Given the description of an element on the screen output the (x, y) to click on. 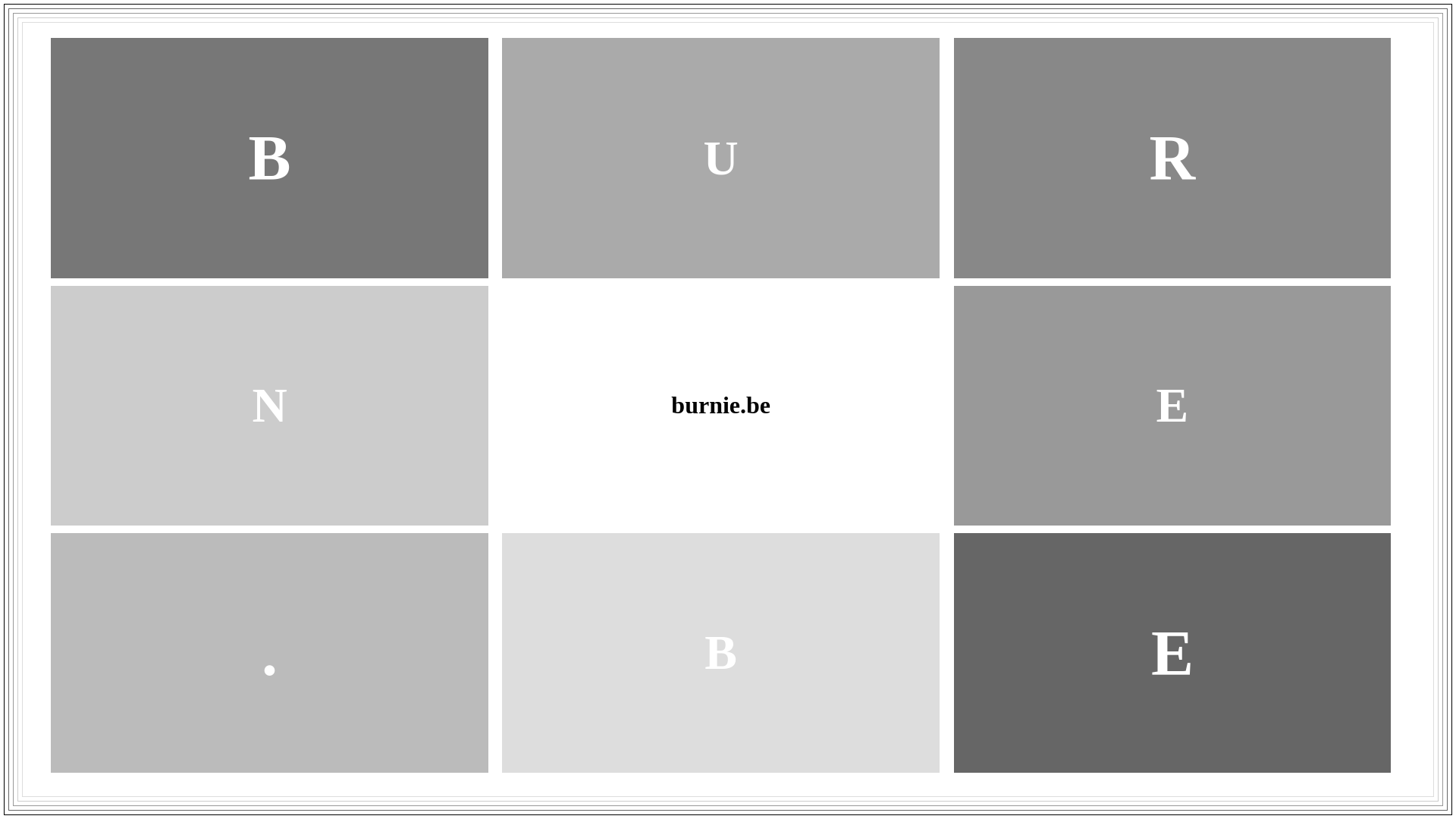
B Element type: text (720, 652)
. Element type: text (269, 653)
E Element type: text (1172, 653)
R Element type: text (1172, 157)
U Element type: text (720, 157)
B Element type: text (268, 157)
E Element type: text (1172, 405)
N Element type: text (268, 405)
